Given the description of an element on the screen output the (x, y) to click on. 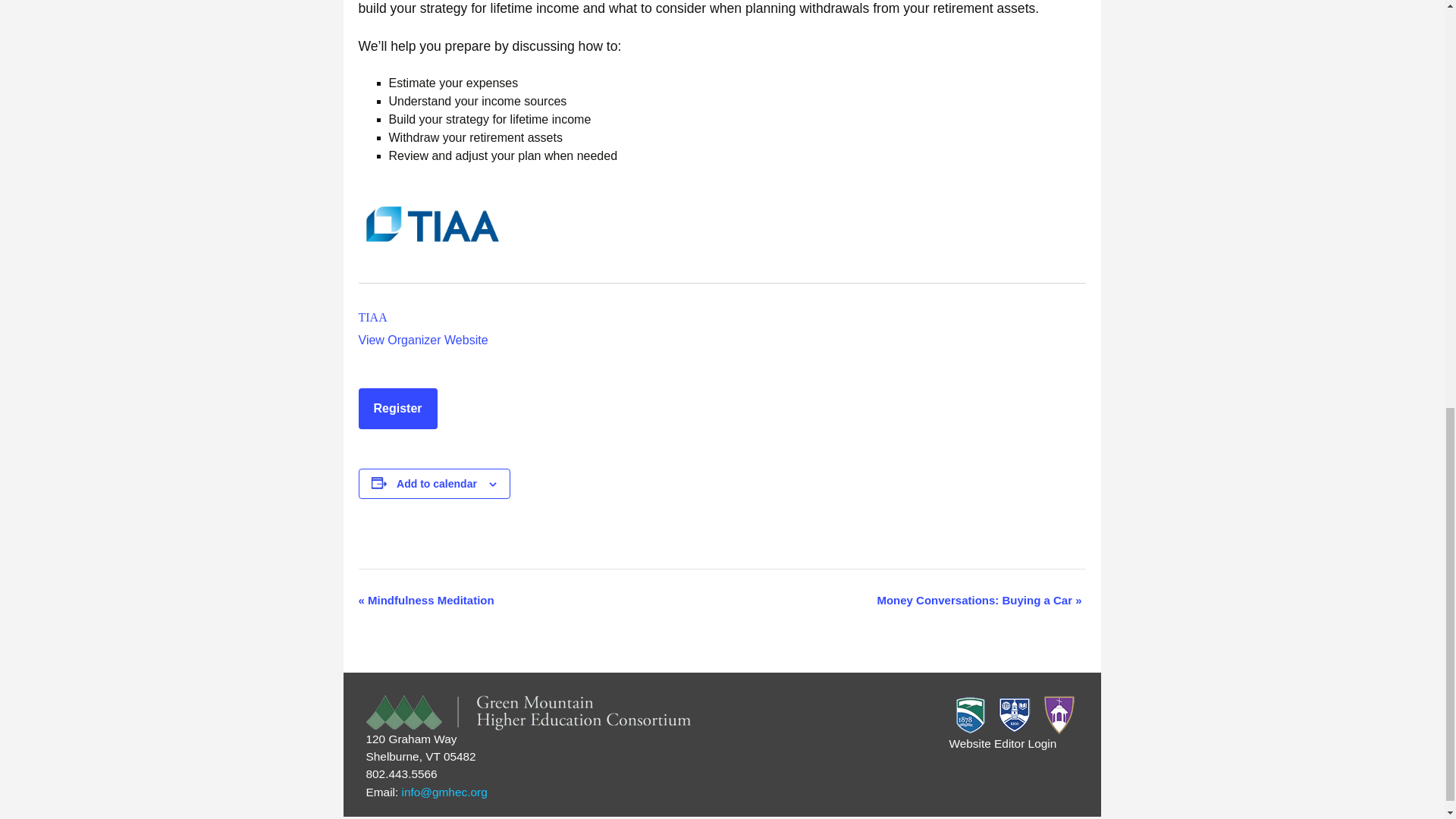
Register (397, 408)
TIAA (372, 317)
Add to calendar (436, 483)
View Organizer Website (422, 339)
TIAA (372, 317)
